Given the description of an element on the screen output the (x, y) to click on. 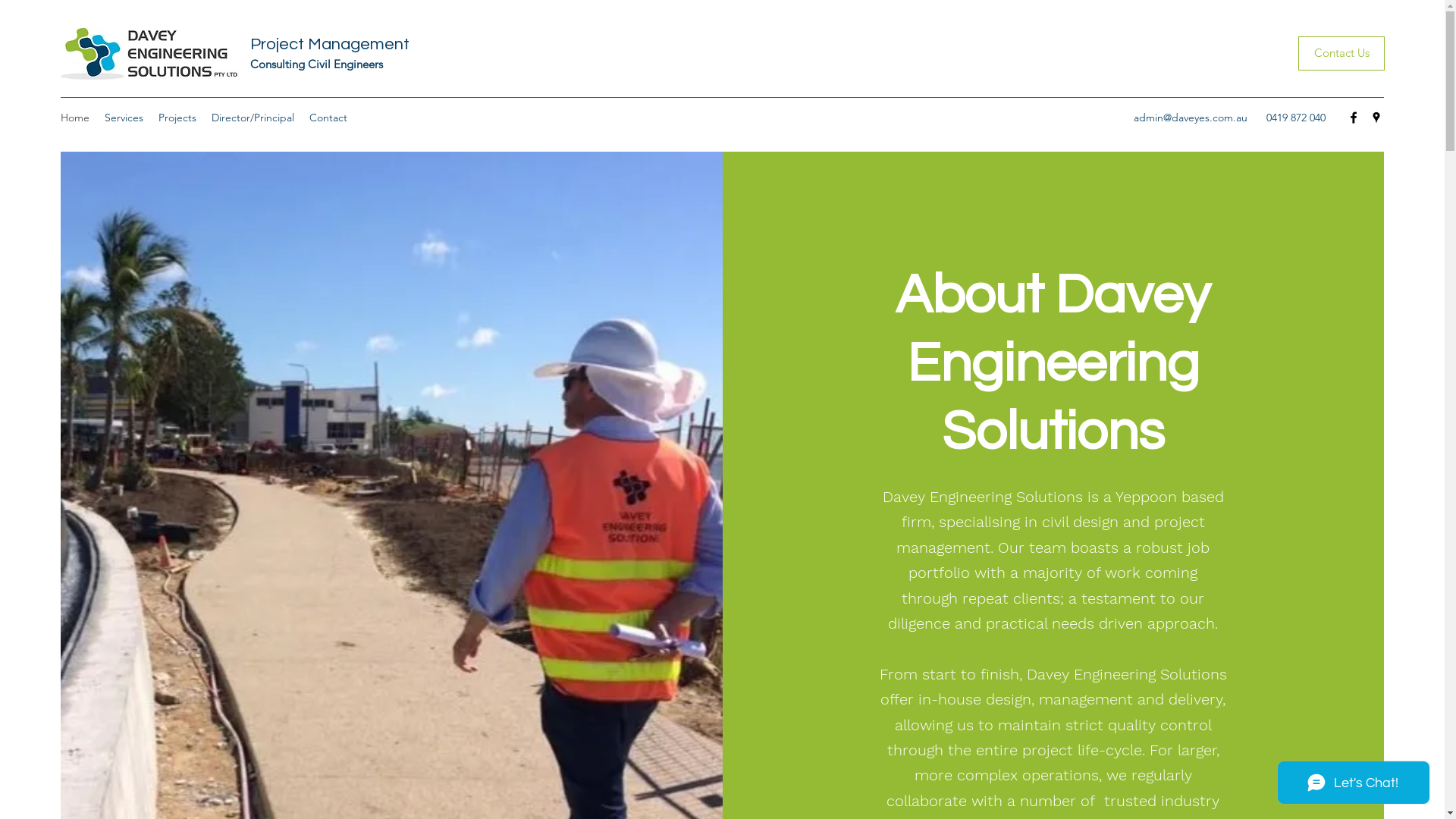
Services Element type: text (123, 117)
Contact Element type: text (327, 117)
Projects Element type: text (176, 117)
admin@daveyes.com.au Element type: text (1190, 117)
Home Element type: text (75, 117)
Director/Principal Element type: text (252, 117)
